Given the description of an element on the screen output the (x, y) to click on. 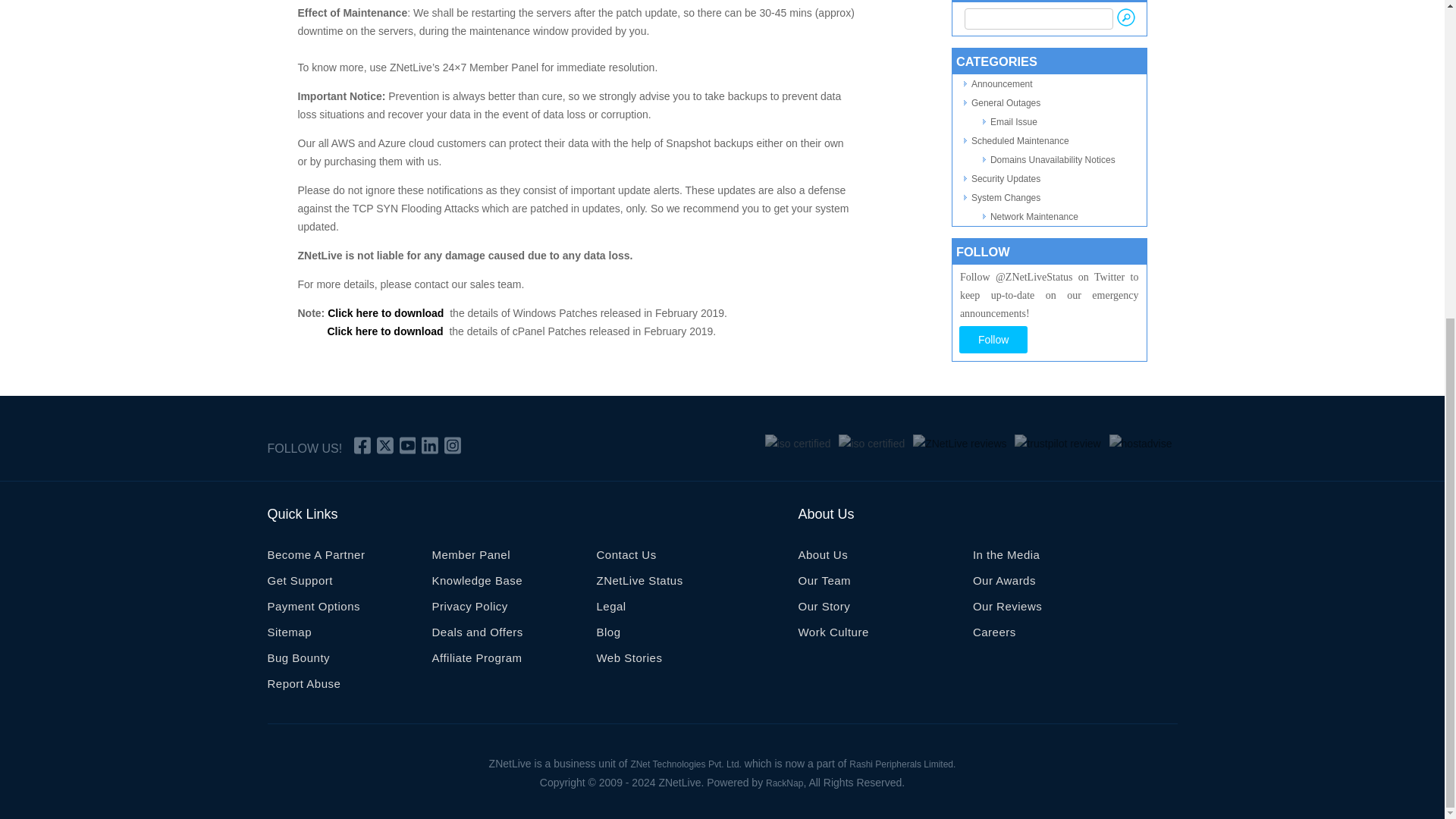
Click here to (360, 313)
Member Panel (470, 558)
iso certified (798, 443)
General Outages (1006, 102)
Become A Partner (315, 558)
Legal (610, 610)
Payment Options (312, 610)
download (419, 313)
Search (1125, 17)
hostadvise (1140, 443)
trustpilot review (1057, 443)
System Changes (1006, 197)
Affiliate Program (475, 661)
Privacy Policy (468, 610)
Scheduled Maintenance (1019, 140)
